Given the description of an element on the screen output the (x, y) to click on. 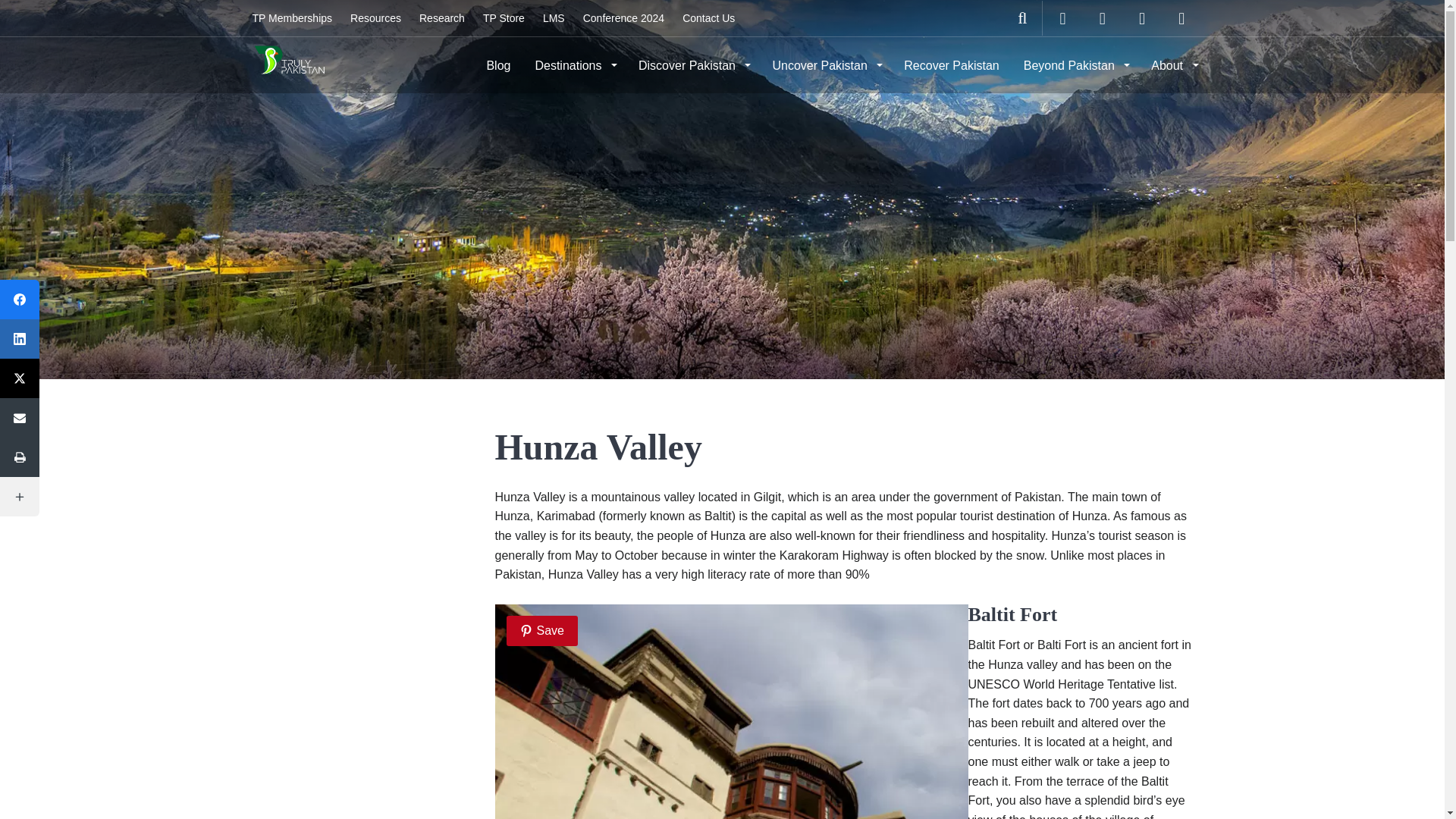
LMS (553, 18)
Research (442, 18)
Join the Explorers! (291, 18)
Resources (375, 18)
Contact Us (708, 18)
Conference 2024 (622, 18)
Destinations (574, 64)
TrulyPakistan (287, 63)
TP Memberships (291, 18)
Uncover Pakistan (825, 64)
Contact Us (708, 18)
Discover Pakistan (693, 64)
TP Store (504, 18)
